Given the description of an element on the screen output the (x, y) to click on. 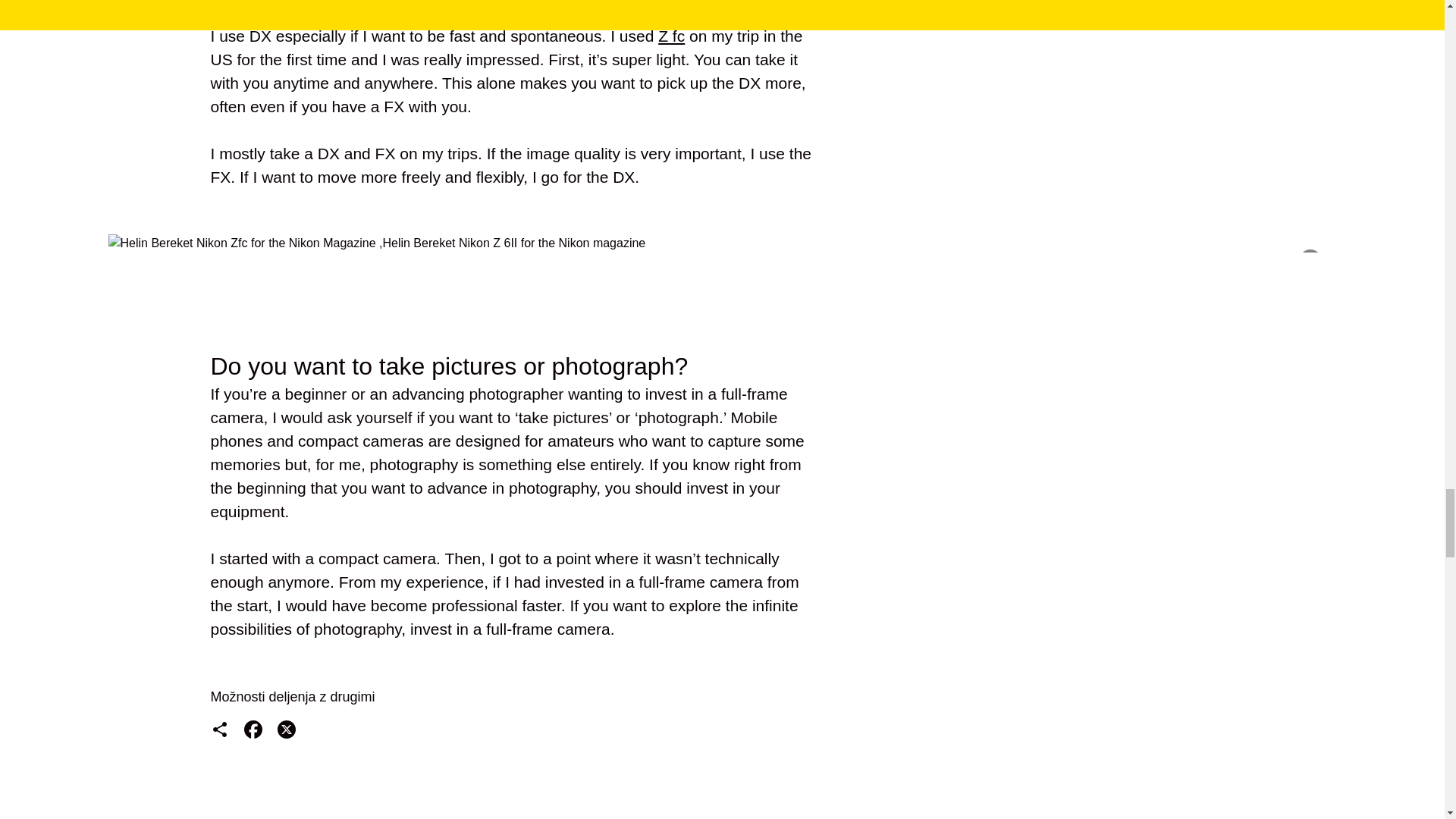
Z fc (671, 36)
